Given the description of an element on the screen output the (x, y) to click on. 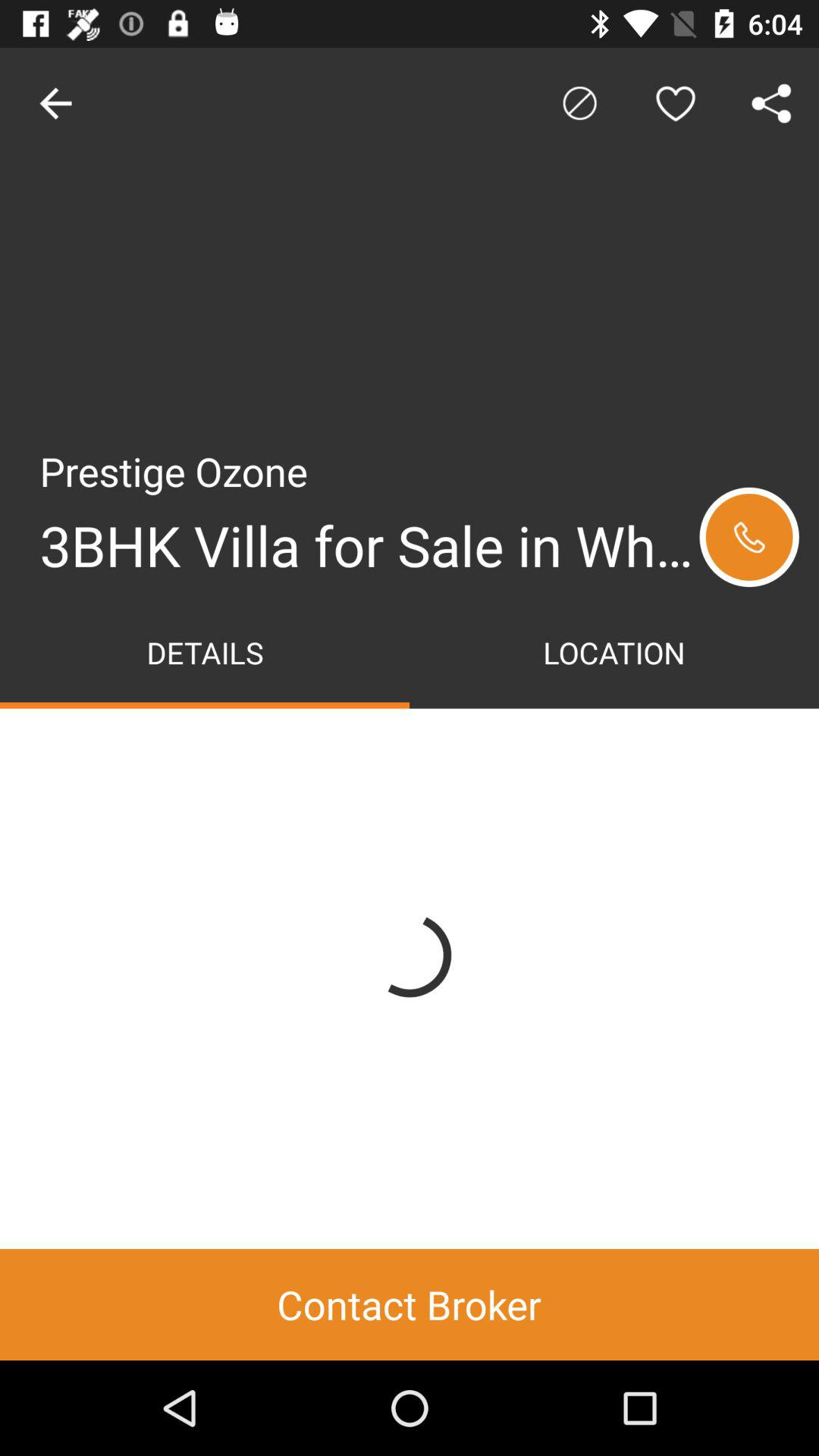
call contact (749, 536)
